Given the description of an element on the screen output the (x, y) to click on. 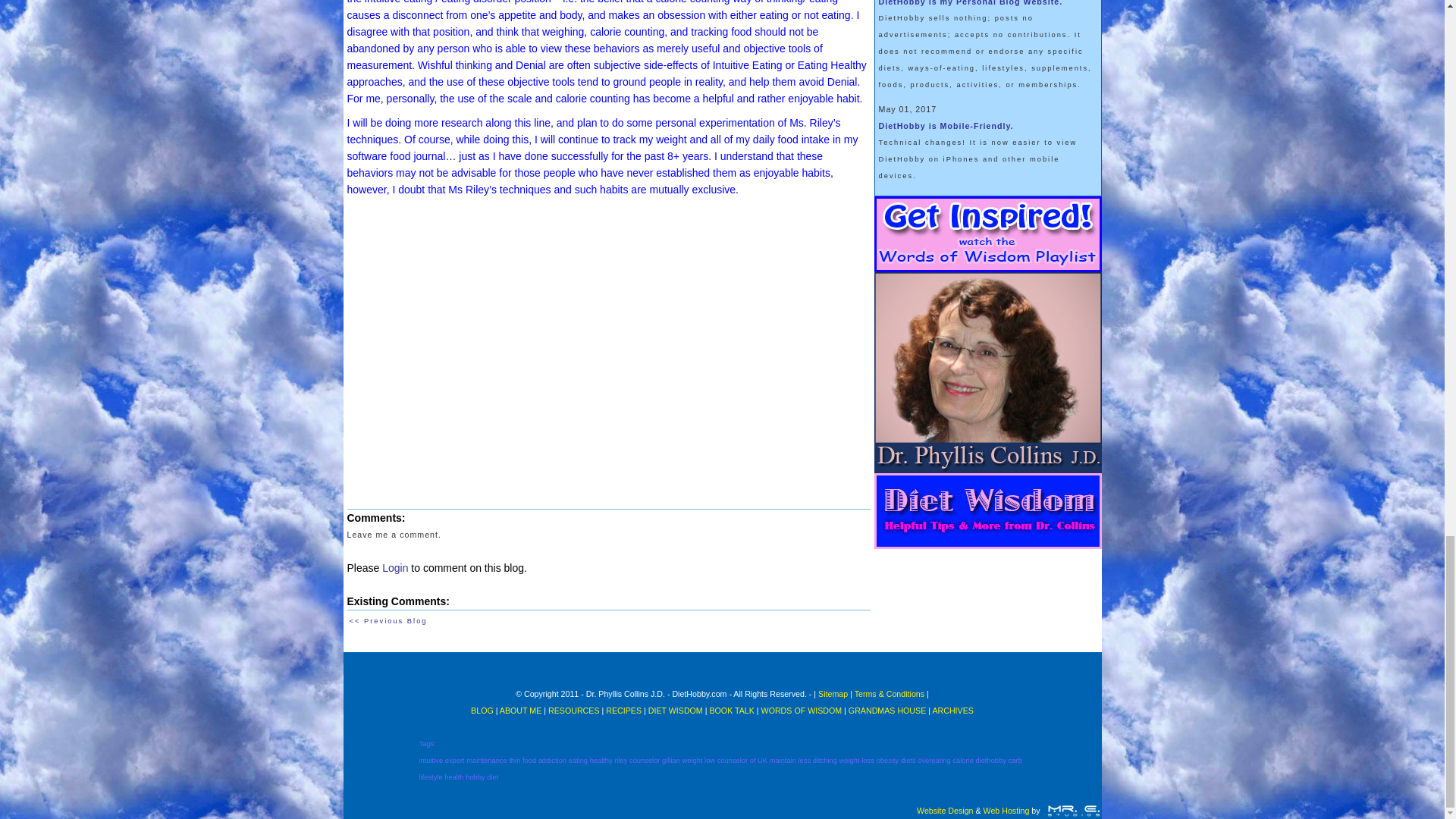
Website Design (944, 809)
Website Hosting (1006, 809)
